Given the description of an element on the screen output the (x, y) to click on. 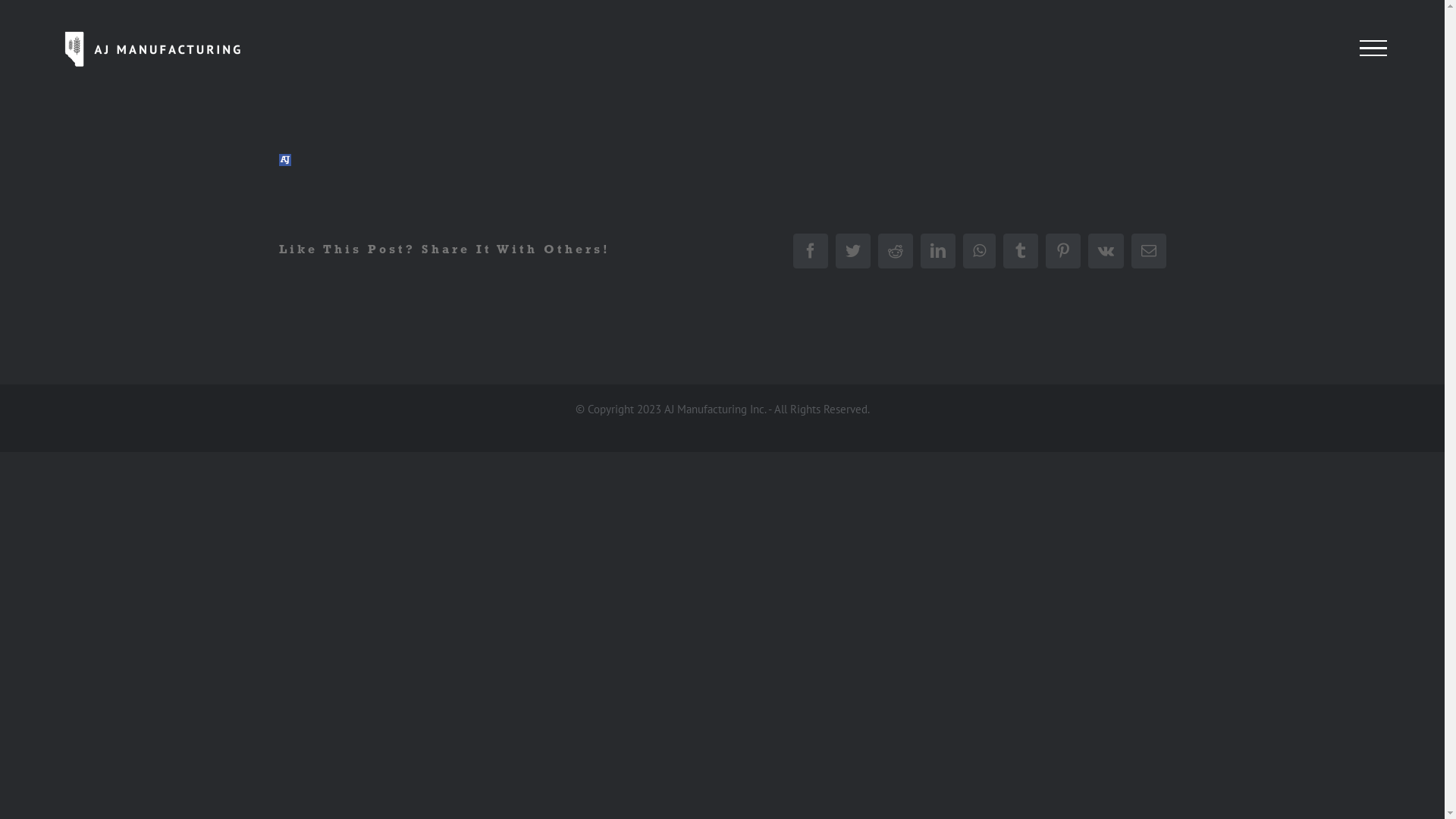
Reddit Element type: text (895, 250)
Pinterest Element type: text (1061, 250)
WhatsApp Element type: text (979, 250)
Facebook Element type: text (810, 250)
LinkedIn Element type: text (937, 250)
Twitter Element type: text (852, 250)
Email Element type: text (1148, 250)
Tumblr Element type: text (1019, 250)
Vk Element type: text (1105, 250)
